Given the description of an element on the screen output the (x, y) to click on. 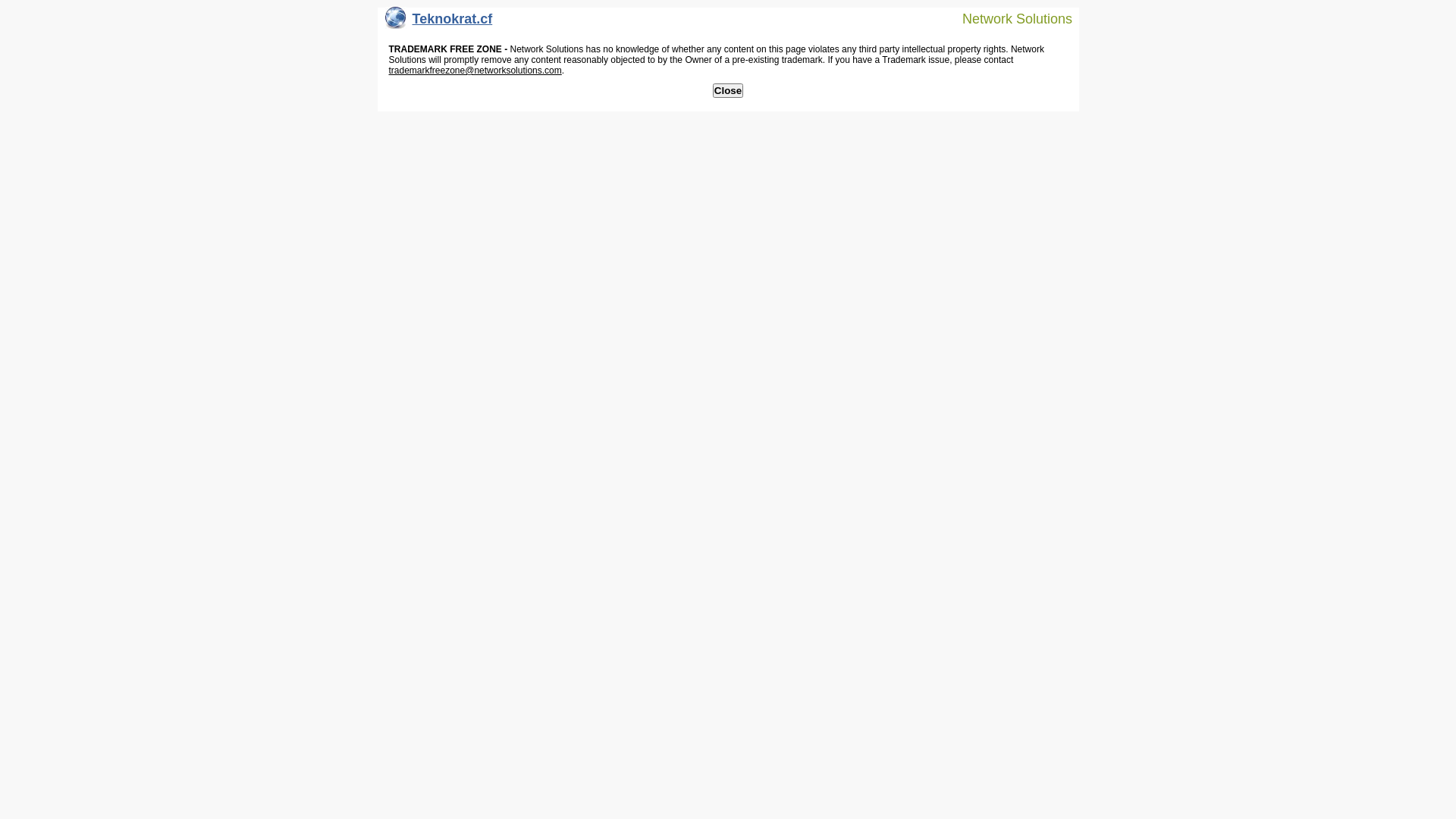
Teknokrat.cf Element type: text (438, 21)
Network Solutions Element type: text (1007, 17)
Close Element type: text (727, 90)
trademarkfreezone@networksolutions.com Element type: text (474, 70)
